Given the description of an element on the screen output the (x, y) to click on. 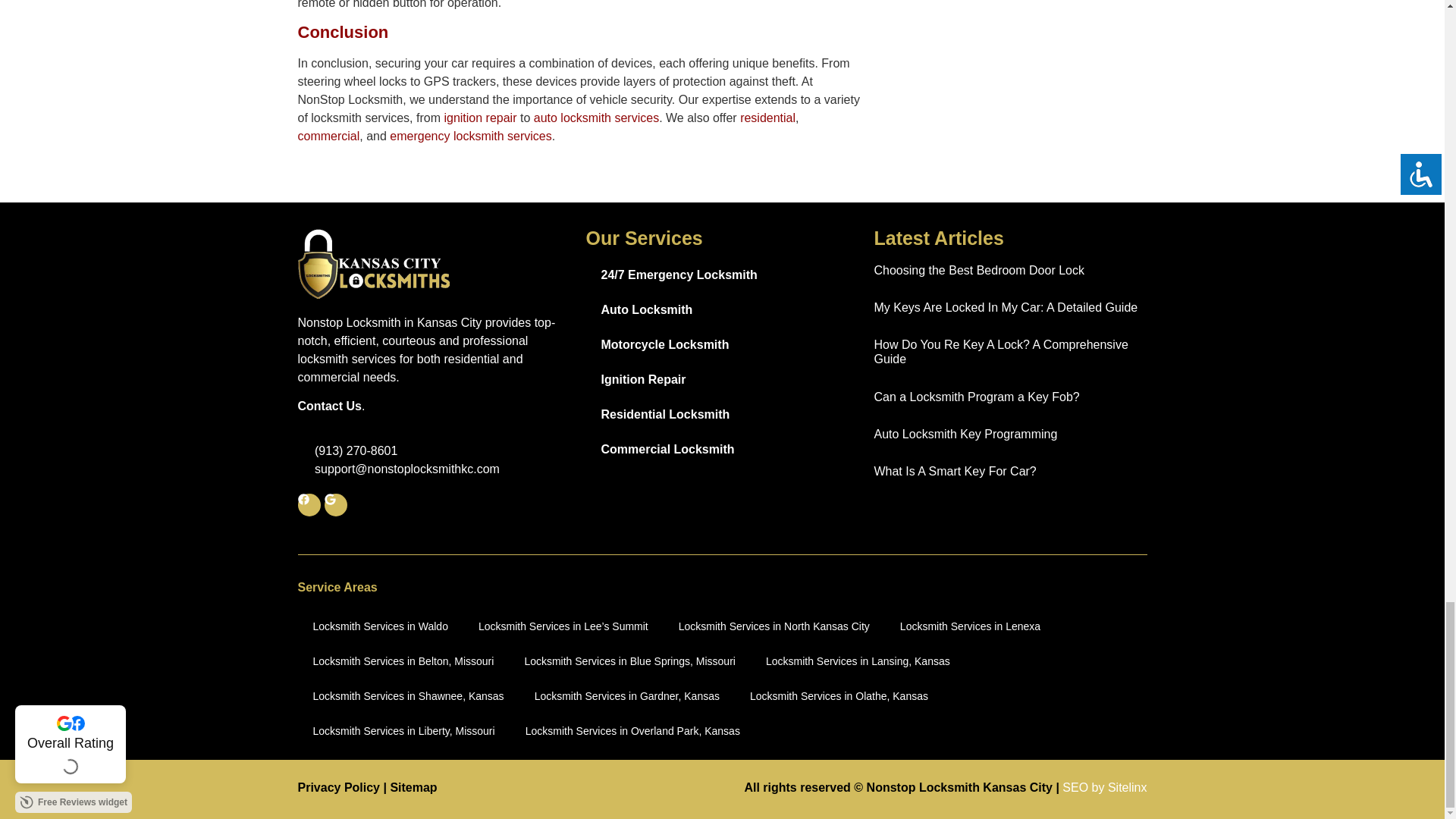
white-locks (372, 263)
